Given the description of an element on the screen output the (x, y) to click on. 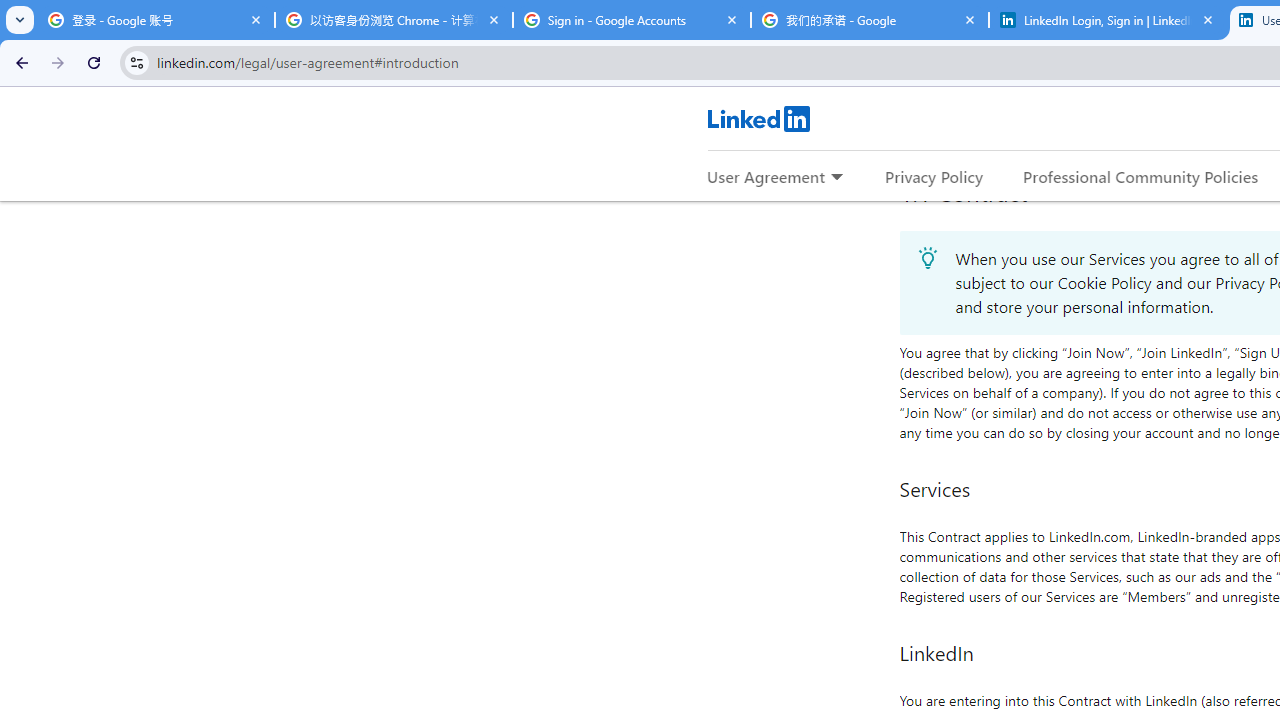
User Agreement (765, 176)
